Given the description of an element on the screen output the (x, y) to click on. 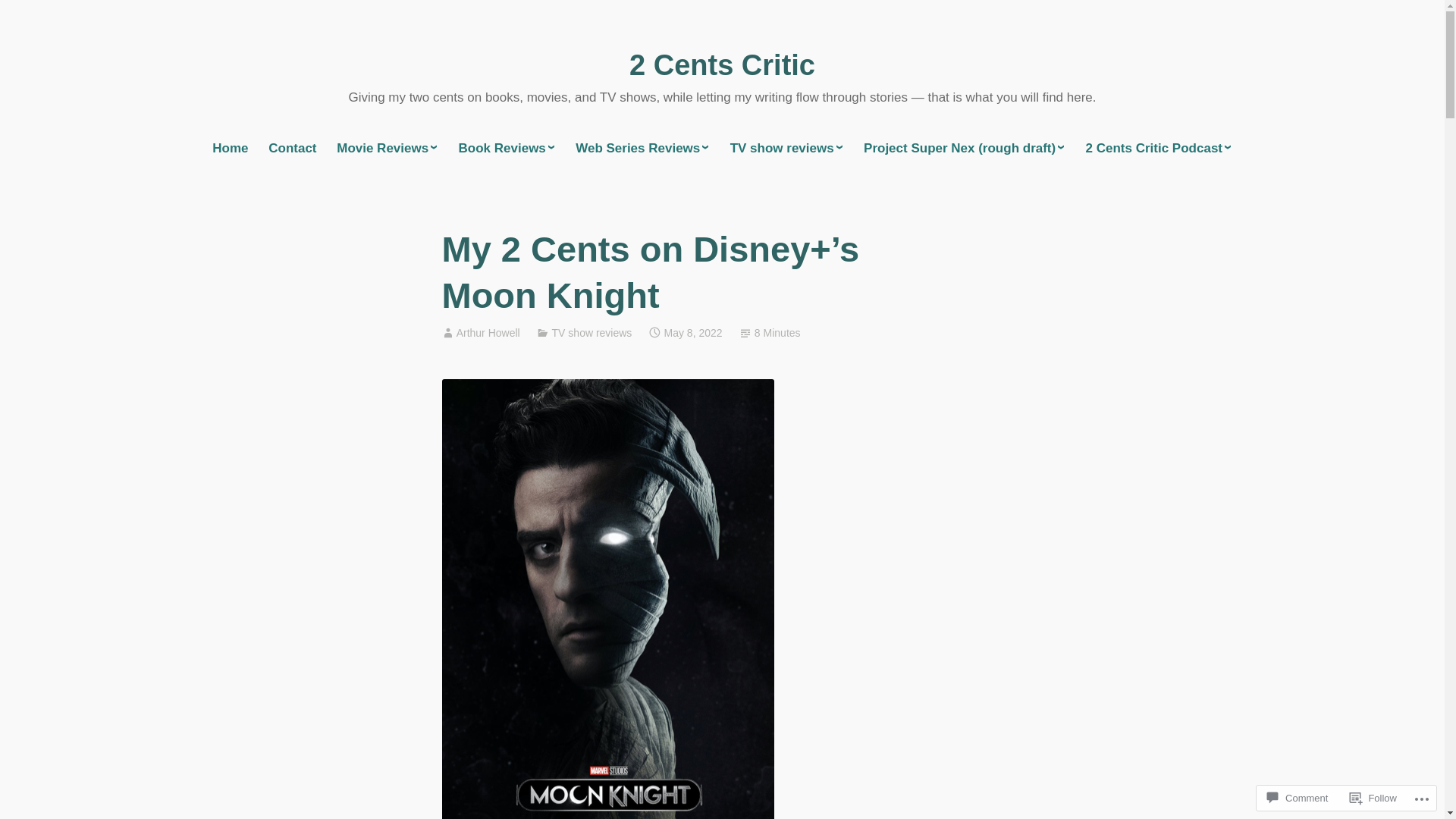
2 Cents Critic Element type: text (722, 65)
Movie Reviews Element type: text (387, 148)
TV show reviews Element type: text (786, 148)
Arthur Howell Element type: text (488, 332)
Contact Element type: text (292, 148)
Comment Element type: text (1297, 797)
Follow Element type: text (1372, 797)
Home Element type: text (230, 148)
Project Super Nex (rough draft) Element type: text (964, 148)
Web Series Reviews Element type: text (642, 148)
TV show reviews Element type: text (592, 332)
Book Reviews Element type: text (506, 148)
2 Cents Critic Podcast Element type: text (1158, 148)
